Given the description of an element on the screen output the (x, y) to click on. 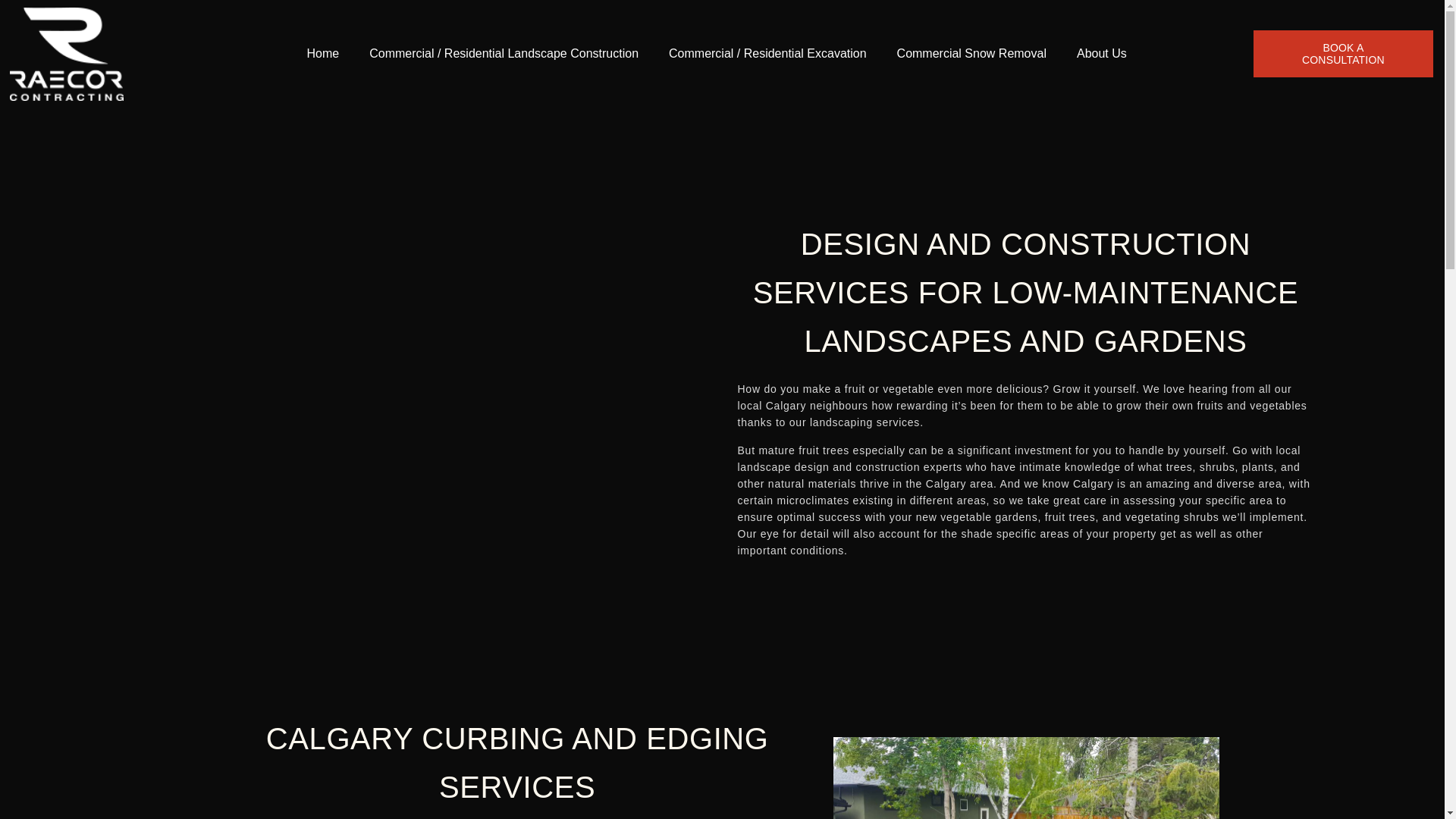
Home (322, 53)
About Us (1101, 53)
Commercial Snow Removal (971, 53)
BOOK A CONSULTATION (1342, 53)
